Given the description of an element on the screen output the (x, y) to click on. 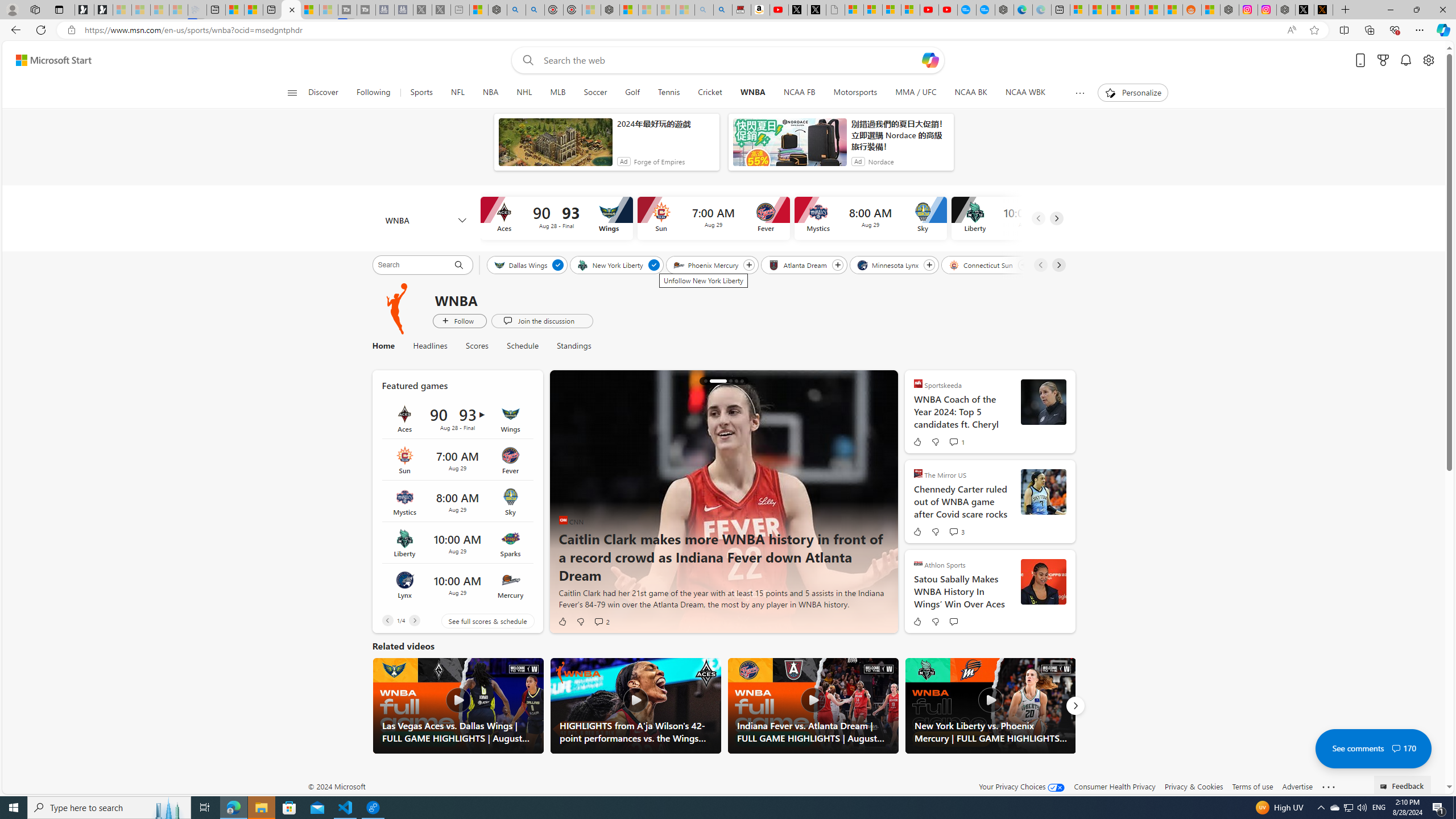
Unfollow Dallas Wings (557, 265)
Previous (387, 620)
Class: oneFooter_seeMore-DS-EntryPoint1-1 (1328, 786)
Terms of use (1252, 786)
NCAA WBK (1024, 92)
Home (382, 345)
View comments 3 Comment (956, 531)
View comments 1 Comment (953, 441)
Motorsports (855, 92)
Standings (573, 345)
